Given the description of an element on the screen output the (x, y) to click on. 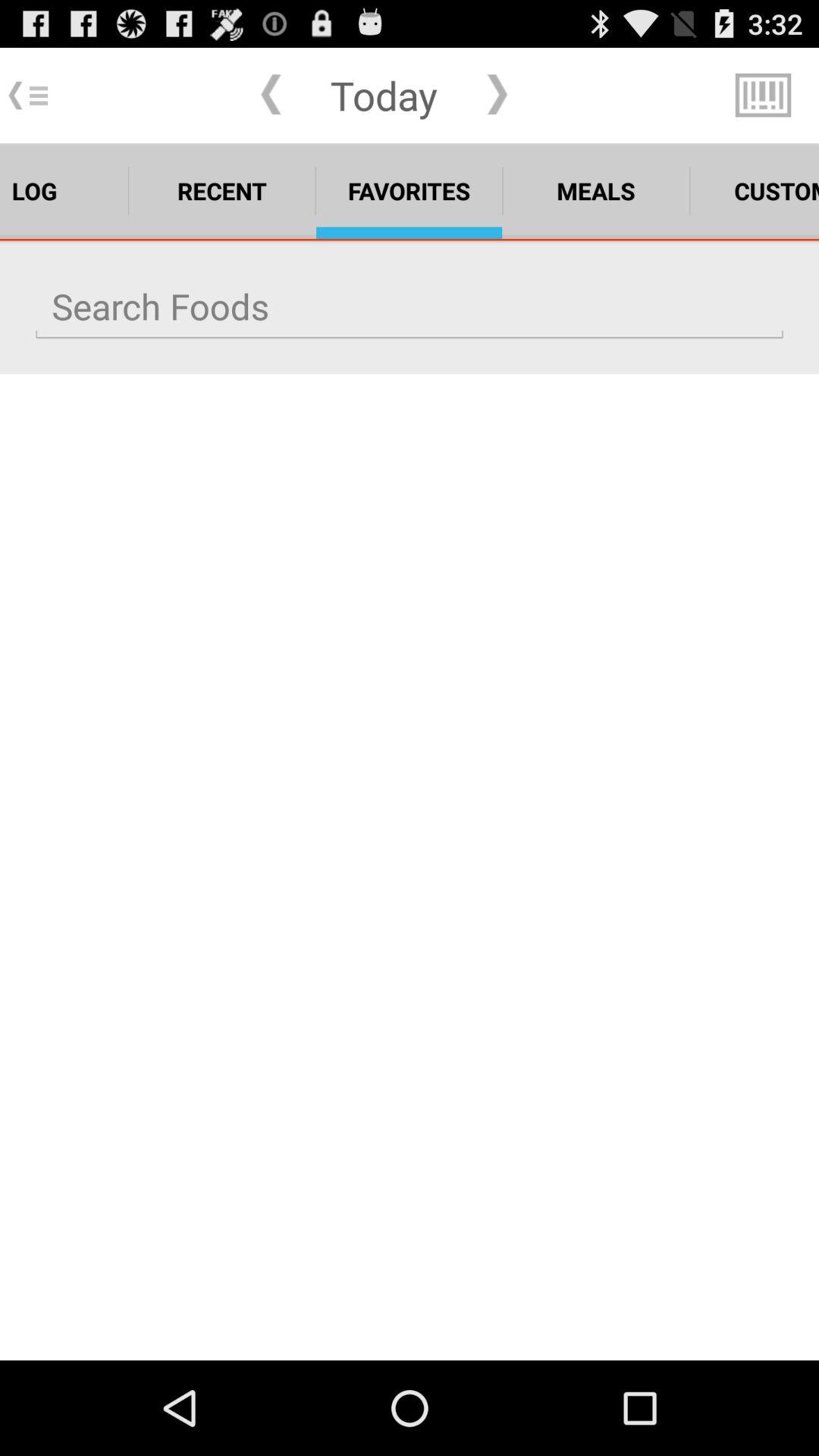
swipe to the today app (383, 94)
